Given the description of an element on the screen output the (x, y) to click on. 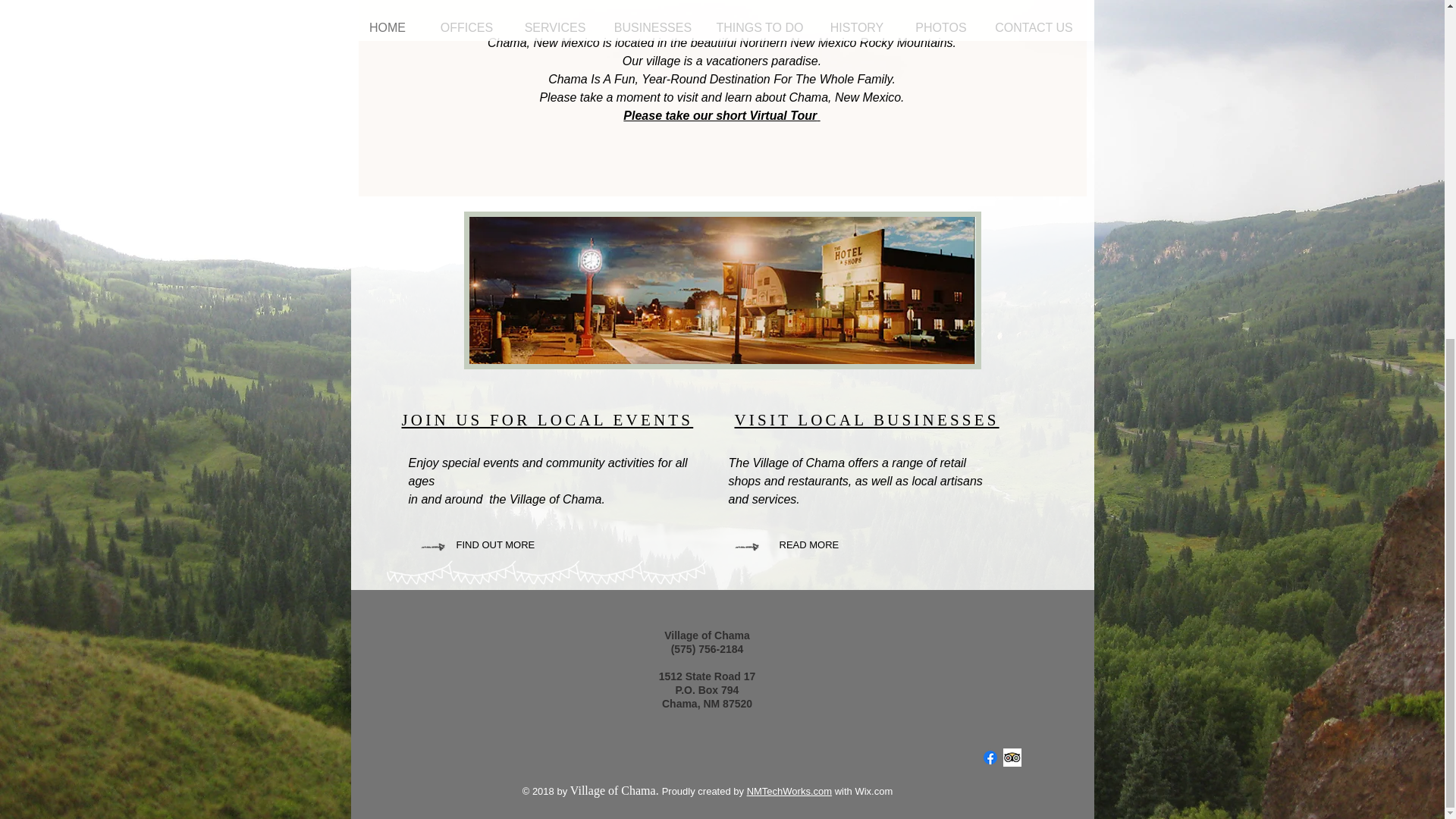
FIND OUT MORE (518, 545)
READ MORE (823, 545)
VISIT LOCAL BUSINESSES (865, 420)
JOIN US FOR LOCAL EVENTS (547, 420)
Wix.co (868, 790)
Please take our short Virtual Tour  (721, 115)
NMTechWorks.com (788, 790)
